Given the description of an element on the screen output the (x, y) to click on. 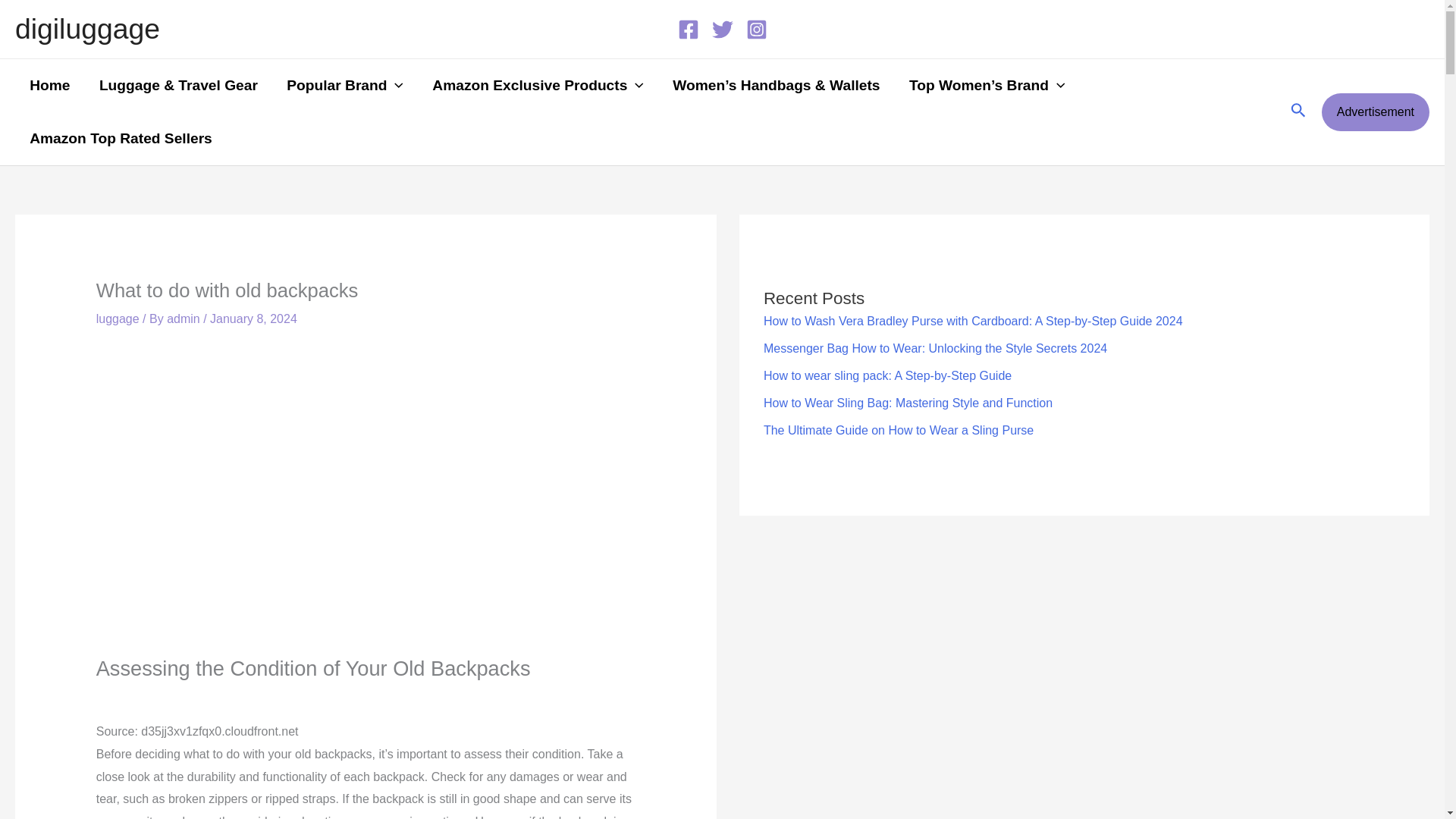
Amazon Top Rated Sellers (120, 138)
View all posts by admin (185, 318)
Popular Brand (344, 85)
Home (49, 85)
Amazon Exclusive Products (537, 85)
digiluggage (87, 29)
